Given the description of an element on the screen output the (x, y) to click on. 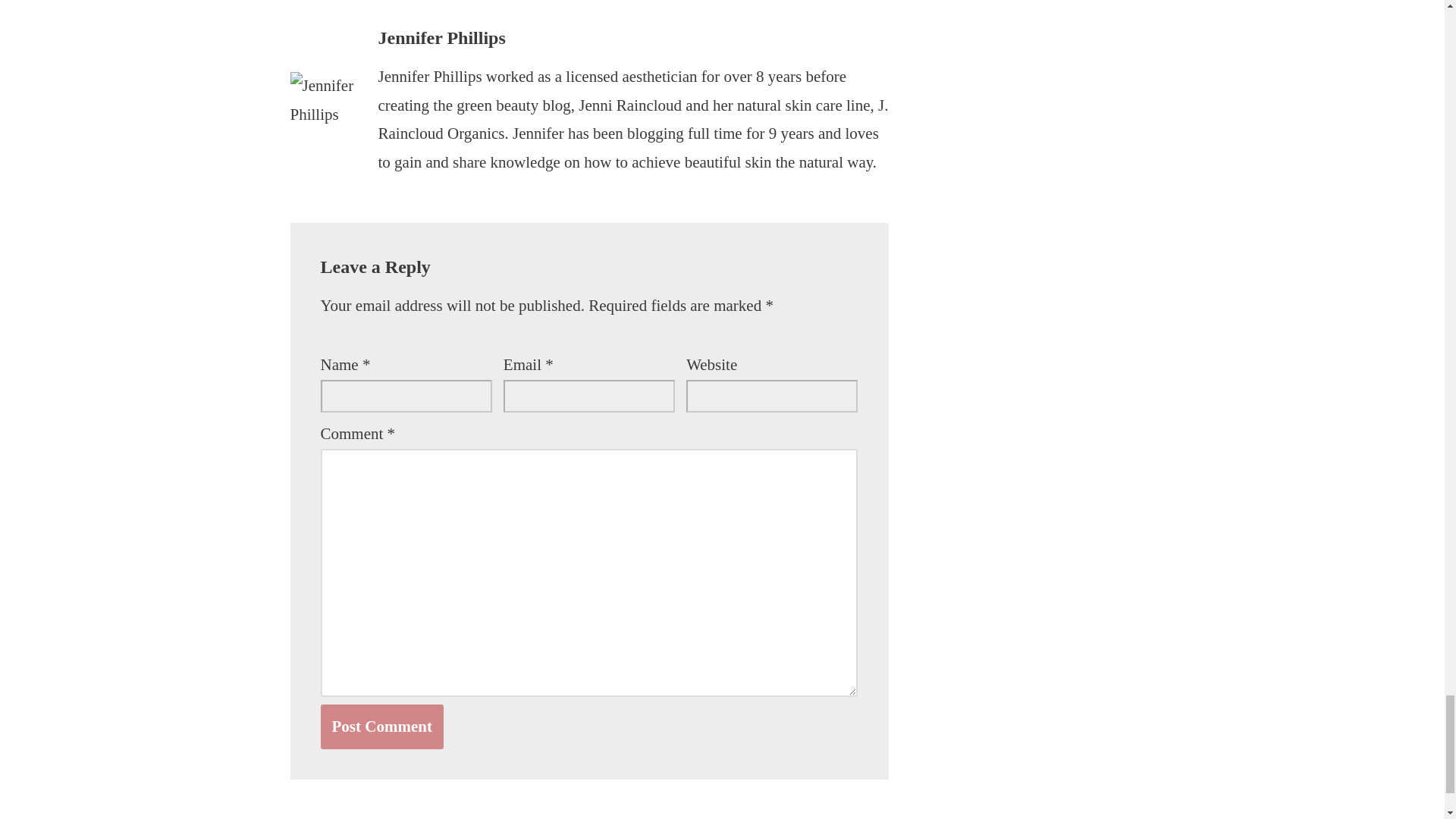
Post Comment (381, 727)
